Given the description of an element on the screen output the (x, y) to click on. 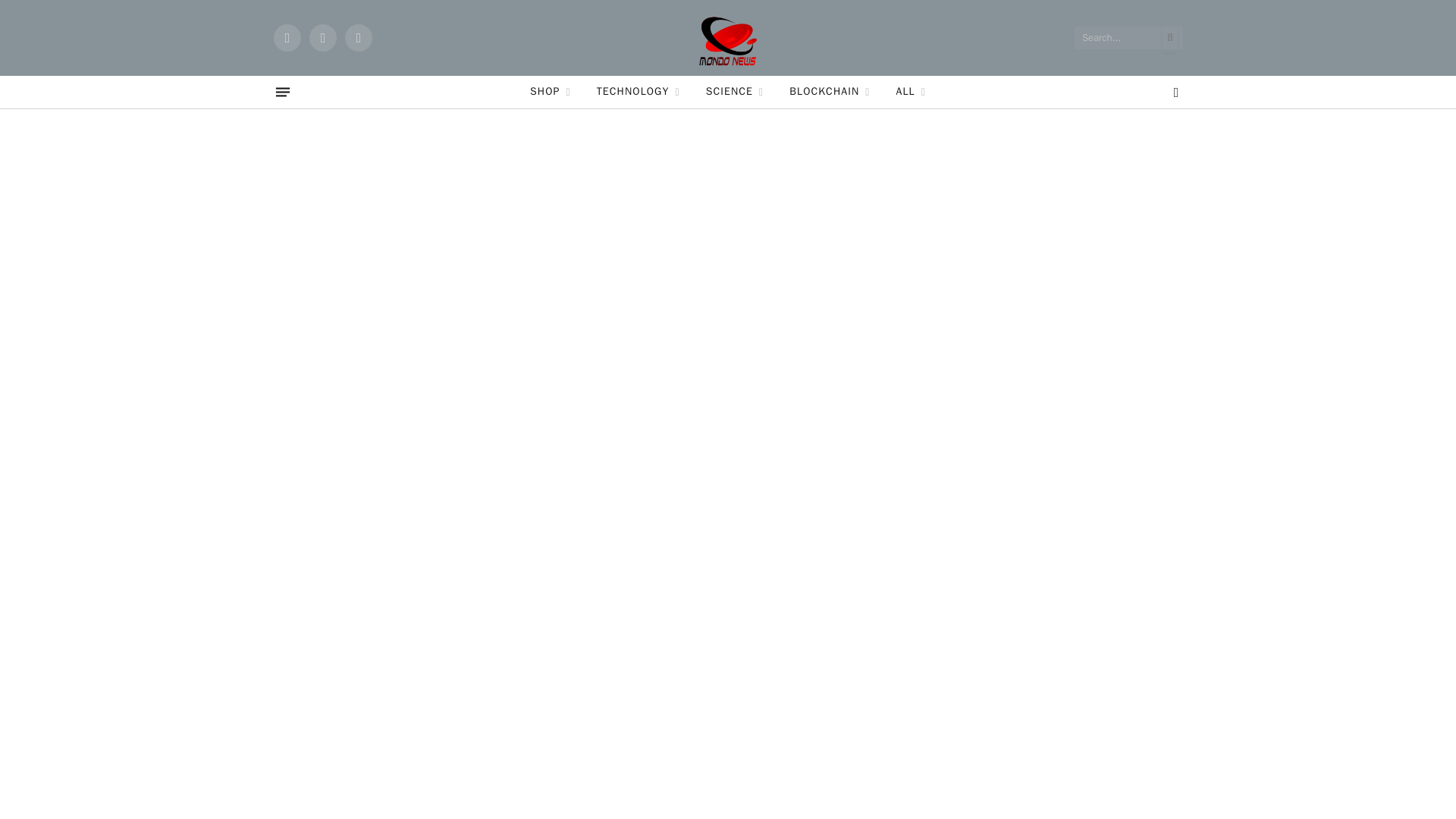
TECHNOLOGY (638, 92)
Instagram (357, 37)
Facebook (287, 37)
SHOP (549, 92)
